Given the description of an element on the screen output the (x, y) to click on. 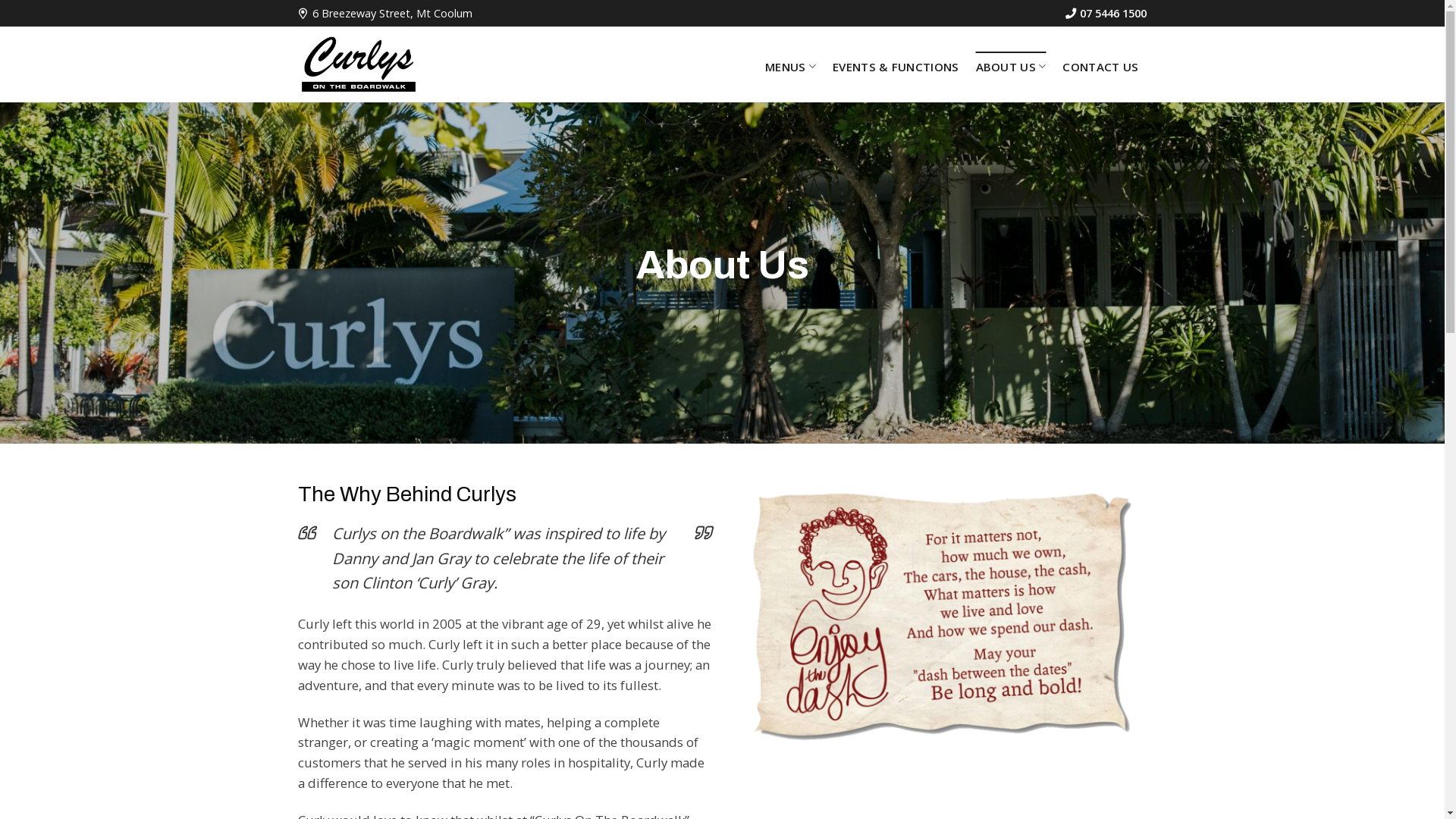
Skip to content Element type: text (0, 0)
EVENTS & FUNCTIONS Element type: text (895, 66)
Curly's on the Boardwalk Element type: hover (357, 64)
CONTACT US Element type: text (1100, 66)
6 Breezeway Street, Mt Coolum Element type: text (384, 12)
ABOUT US Element type: text (1010, 66)
MENUS Element type: text (790, 66)
07 5446 1500 Element type: text (1105, 13)
